Given the description of an element on the screen output the (x, y) to click on. 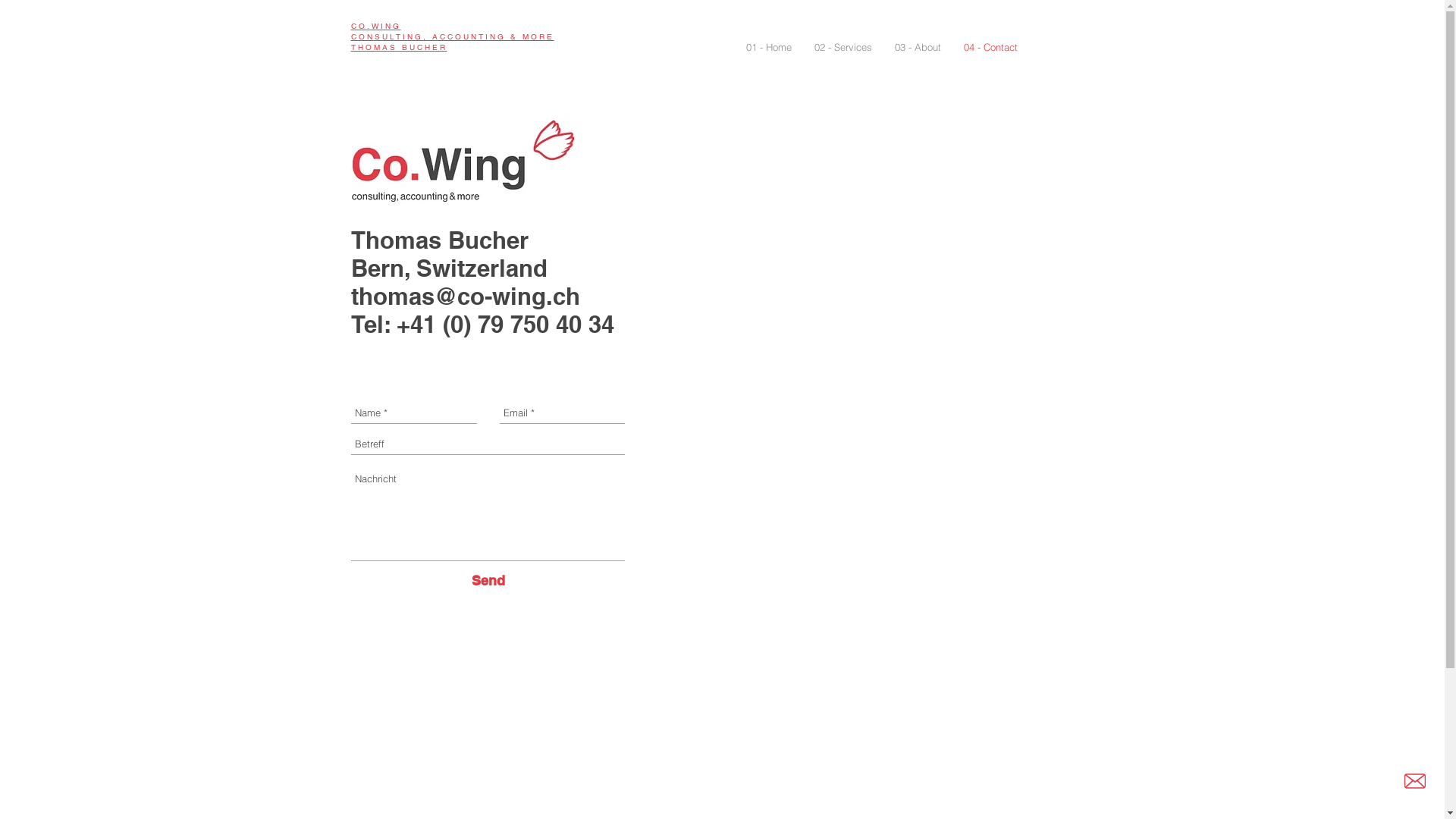
02 - Services Element type: text (842, 47)
01 - Home Element type: text (768, 47)
+41 (0) 79 750 40 34 Element type: text (504, 324)
03 - About Element type: text (916, 47)
Google Maps Element type: hover (876, 393)
thomas@co-wing.ch Element type: text (464, 296)
CONSULTING, ACCOUNTING & MORE Element type: text (451, 36)
THOMAS BUCHER Element type: text (398, 47)
CO.WING Element type: text (375, 26)
04 - Contact Element type: text (990, 47)
Send Element type: text (488, 580)
